Given the description of an element on the screen output the (x, y) to click on. 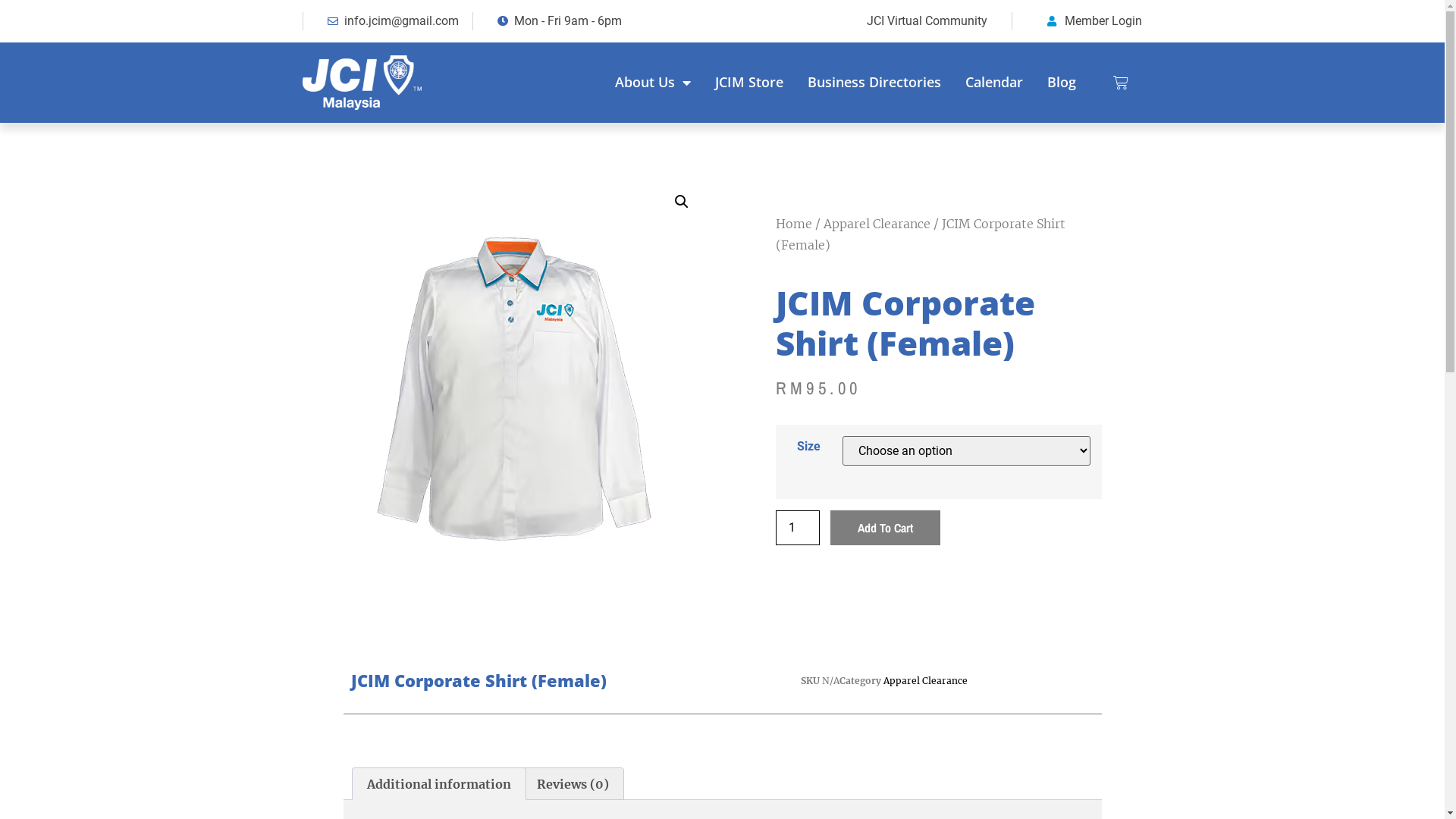
Member Login Element type: text (1089, 21)
Calendar Element type: text (993, 82)
JCI Virtual Community Element type: text (860, 21)
corporate-shirt-female2-530x530 Element type: hover (505, 376)
JCIM Store Element type: text (748, 82)
Business Directories Element type: text (874, 82)
Apparel Clearance Element type: text (925, 680)
Home Element type: text (793, 223)
info.jcim@gmail.com Element type: text (387, 21)
Reviews (0) Element type: text (572, 784)
Additional information Element type: text (437, 784)
Blog Element type: text (1061, 82)
Apparel Clearance Element type: text (876, 223)
Add To Cart Element type: text (885, 527)
About Us Element type: text (660, 82)
